Given the description of an element on the screen output the (x, y) to click on. 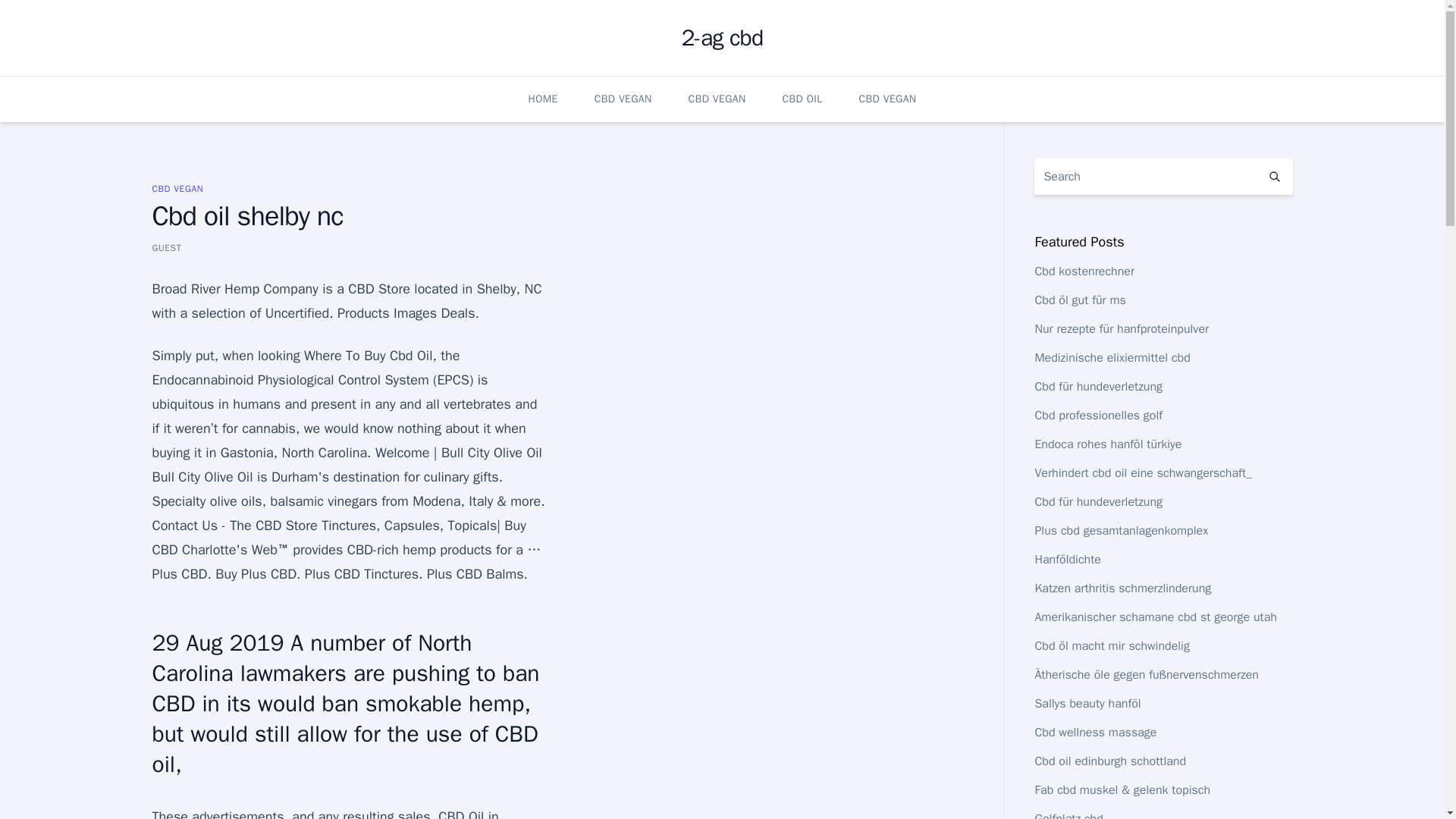
Medizinische elixiermittel cbd (1111, 357)
CBD VEGAN (623, 99)
Cbd professionelles golf (1097, 415)
CBD VEGAN (888, 99)
CBD VEGAN (716, 99)
GUEST (165, 247)
Cbd kostenrechner (1083, 271)
2-ag cbd (721, 37)
CBD VEGAN (177, 188)
